Given the description of an element on the screen output the (x, y) to click on. 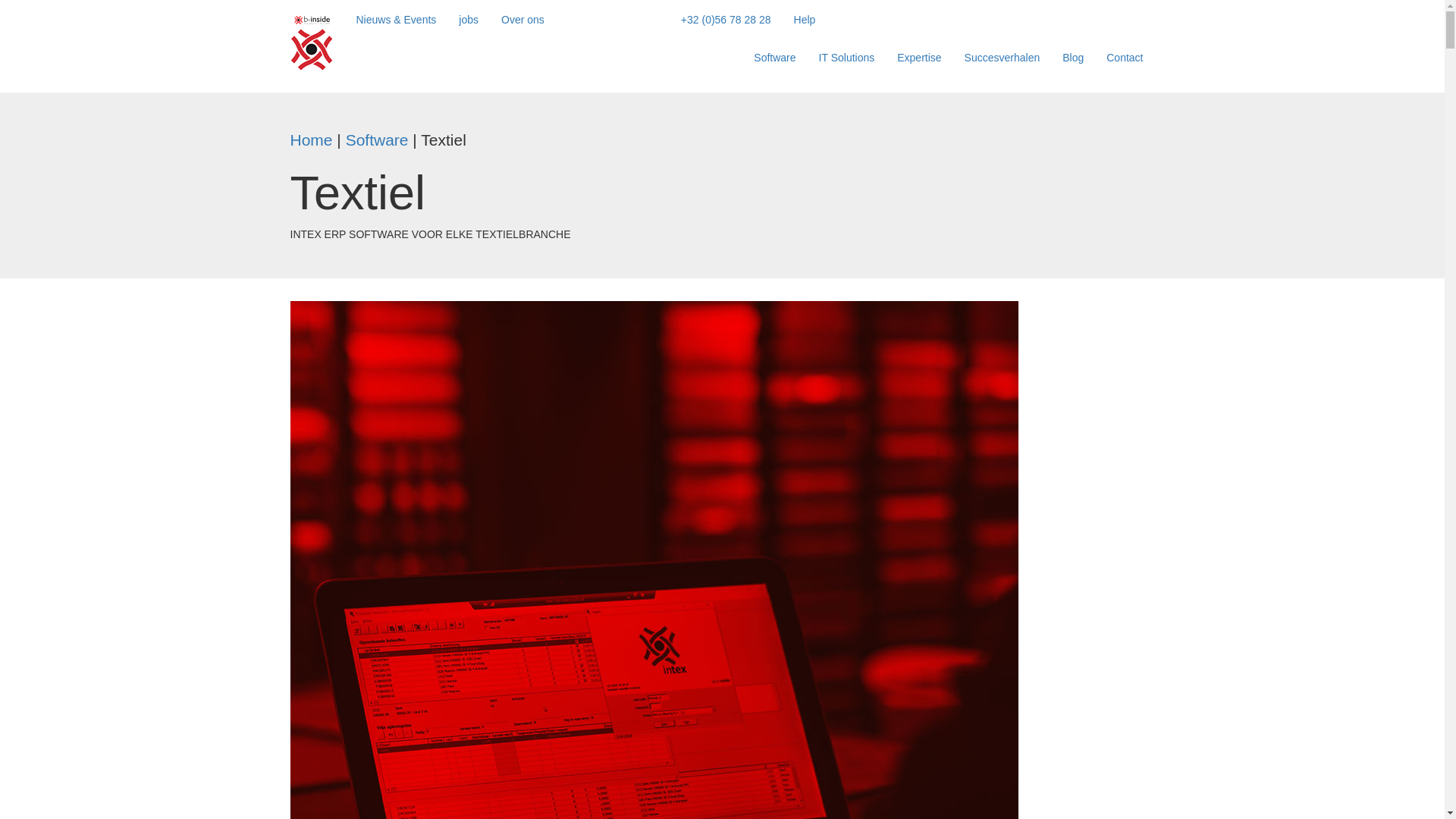
Over ons Element type: text (522, 19)
Succesverhalen Element type: text (1002, 57)
Expertise Element type: text (918, 57)
+32 (0)56 78 28 28 Element type: text (725, 19)
Nieuws & Events Element type: text (395, 19)
Blog Element type: text (1073, 57)
Software Element type: text (376, 139)
Help Element type: text (804, 19)
IT Solutions Element type: text (846, 57)
jobs Element type: text (468, 19)
Contact Element type: text (1124, 57)
Home Element type: text (310, 139)
Software Element type: text (774, 57)
